Given the description of an element on the screen output the (x, y) to click on. 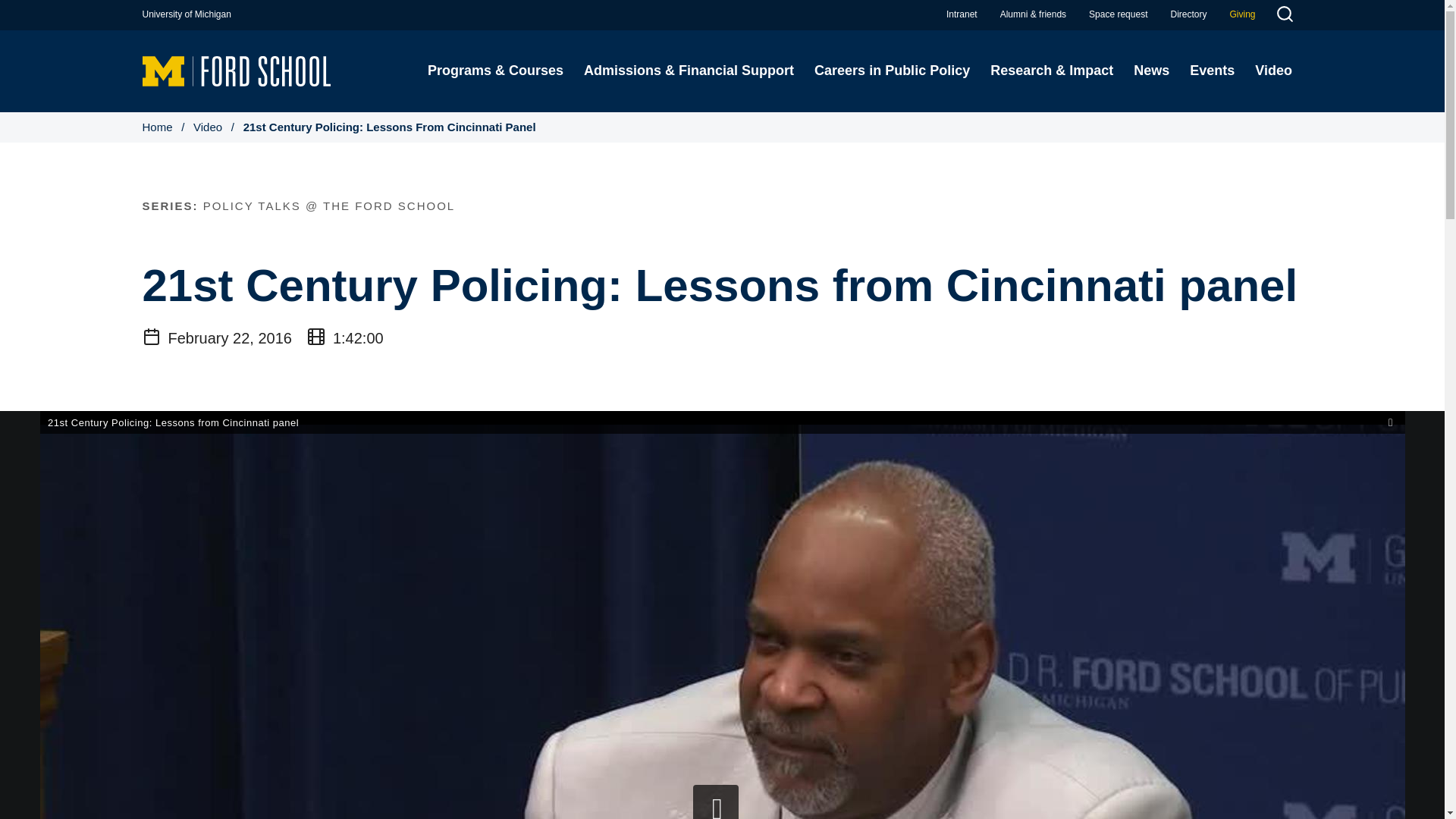
Search Toggle (1283, 15)
Intranet (961, 14)
Space request (1118, 14)
University of Michigan (186, 14)
Ford School academic program and course information (494, 71)
Home (236, 69)
Give to the Ford School (1241, 14)
Ford School faculty, staff, and student contacts (1188, 14)
A connected community to each other, and to the world (1032, 14)
Learn more about our facilities and how to reserve them (1118, 14)
Giving (1241, 14)
Directory (1188, 14)
